Given the description of an element on the screen output the (x, y) to click on. 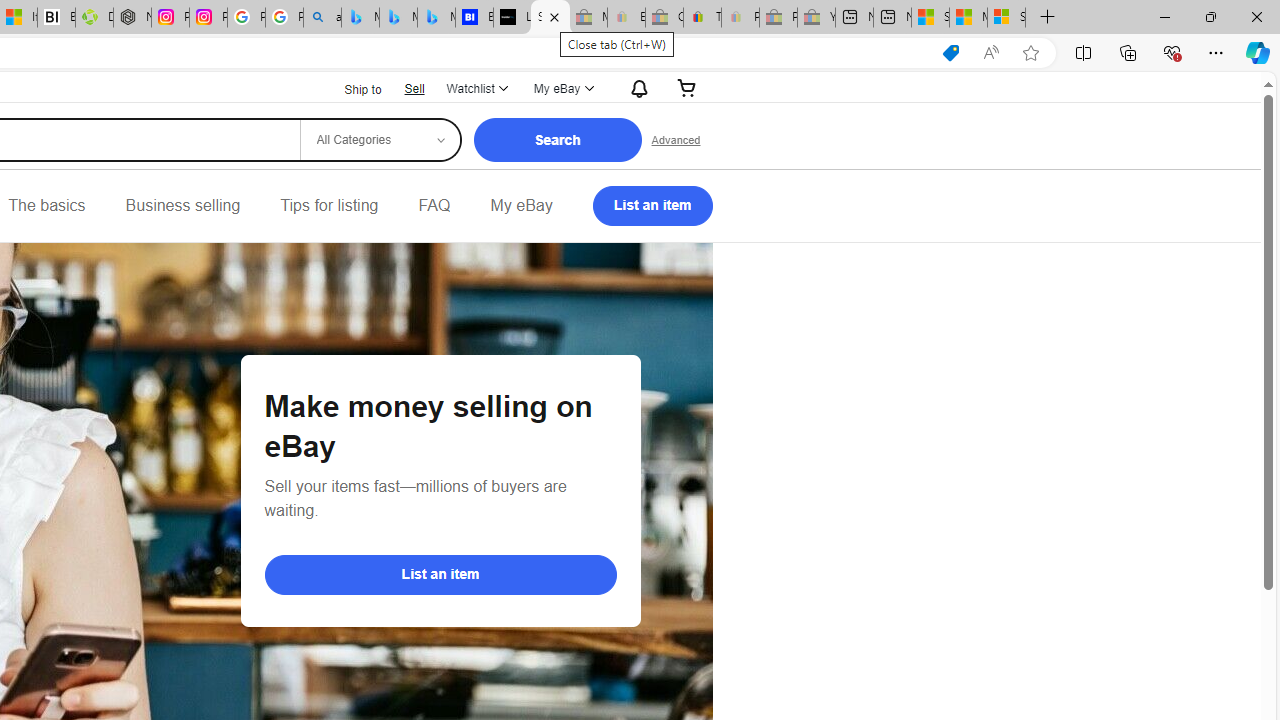
Ship to (349, 89)
AutomationID: gh-eb-Alerts (636, 88)
Business selling (182, 205)
Advanced Search (675, 139)
WatchlistExpand Watch List (476, 88)
Ship to (349, 88)
alabama high school quarterback dies - Search (321, 17)
List an item (651, 205)
